Given the description of an element on the screen output the (x, y) to click on. 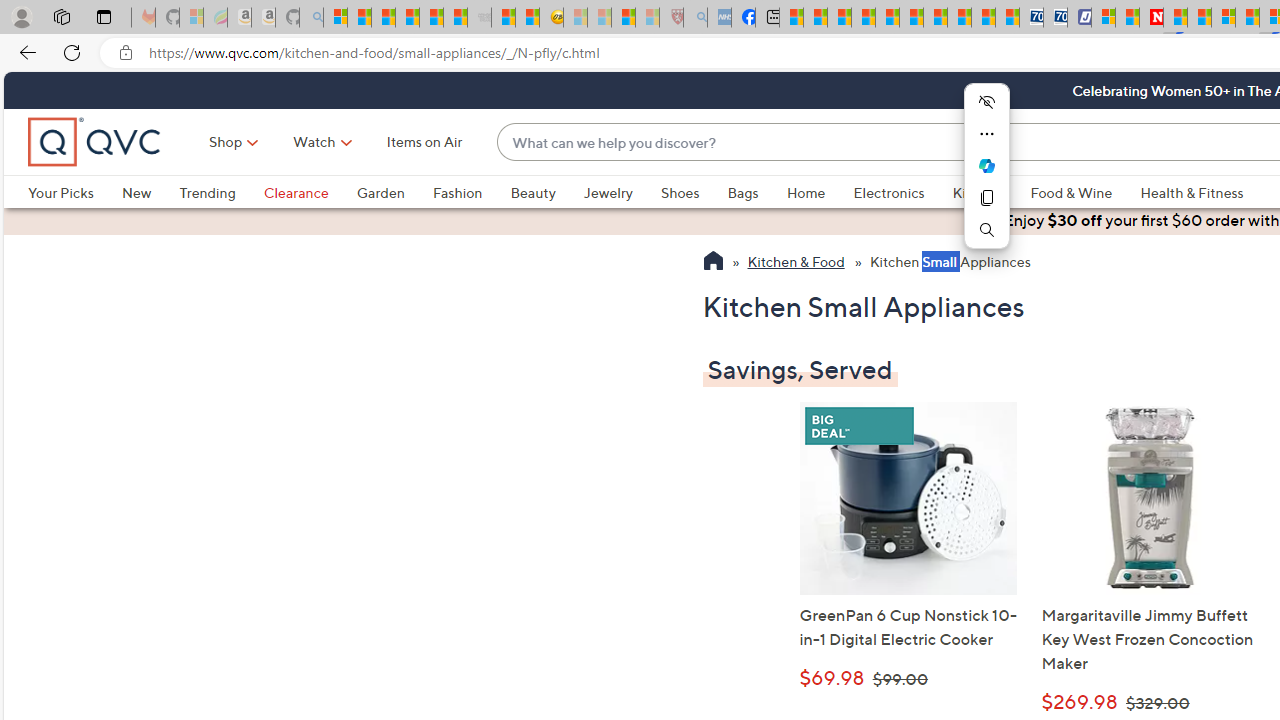
Copy (986, 197)
Beauty (532, 192)
Health & Fitness (1197, 192)
Your Picks (74, 192)
Electronics (902, 192)
Return to QVC Homepage (712, 263)
Combat Siege - Sleeping (479, 17)
Climate Damage Becomes Too Severe To Reverse (863, 17)
Robert H. Shmerling, MD - Harvard Health - Sleeping (671, 17)
Garden (393, 192)
Kitchen Small Appliances (949, 263)
